Given the description of an element on the screen output the (x, y) to click on. 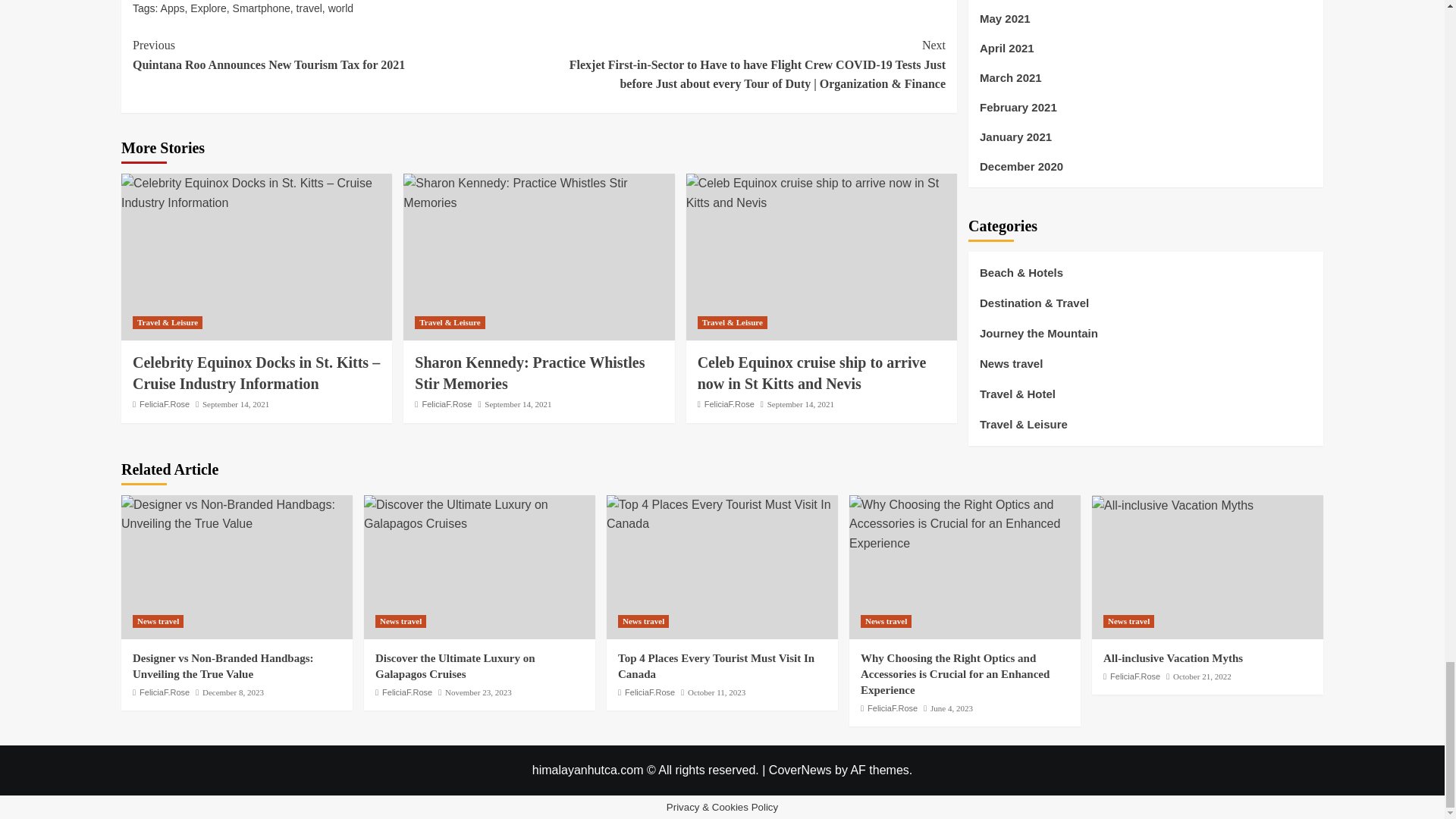
Designer vs Non-Branded Handbags: Unveiling the True Value (236, 514)
All-inclusive Vacation Myths (1172, 505)
Sharon Kennedy: Practice Whistles Stir Memories (538, 192)
Explore (207, 8)
Discover the Ultimate Luxury on Galapagos Cruises (479, 514)
Apps (172, 8)
Smartphone (260, 8)
Top 4 Places Every Tourist Must Visit In Canada (722, 514)
